Given the description of an element on the screen output the (x, y) to click on. 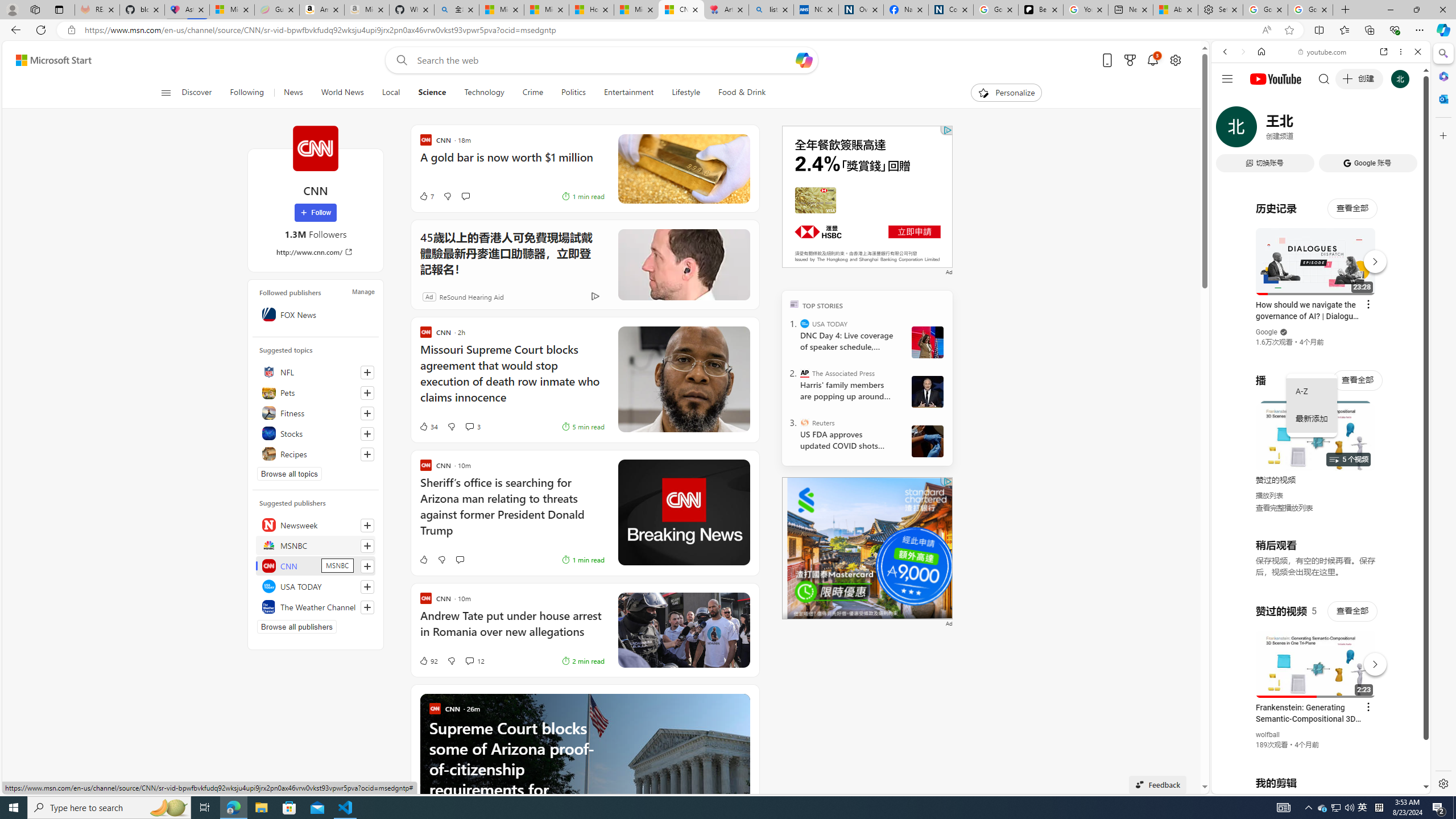
Search Filter, VIDEOS (1300, 129)
View comments 3 Comment (472, 426)
Newsweek (315, 524)
Search videos from youtube.com (1299, 373)
US FDA approves updated COVID shots ahead of fall and winter (846, 440)
